Given the description of an element on the screen output the (x, y) to click on. 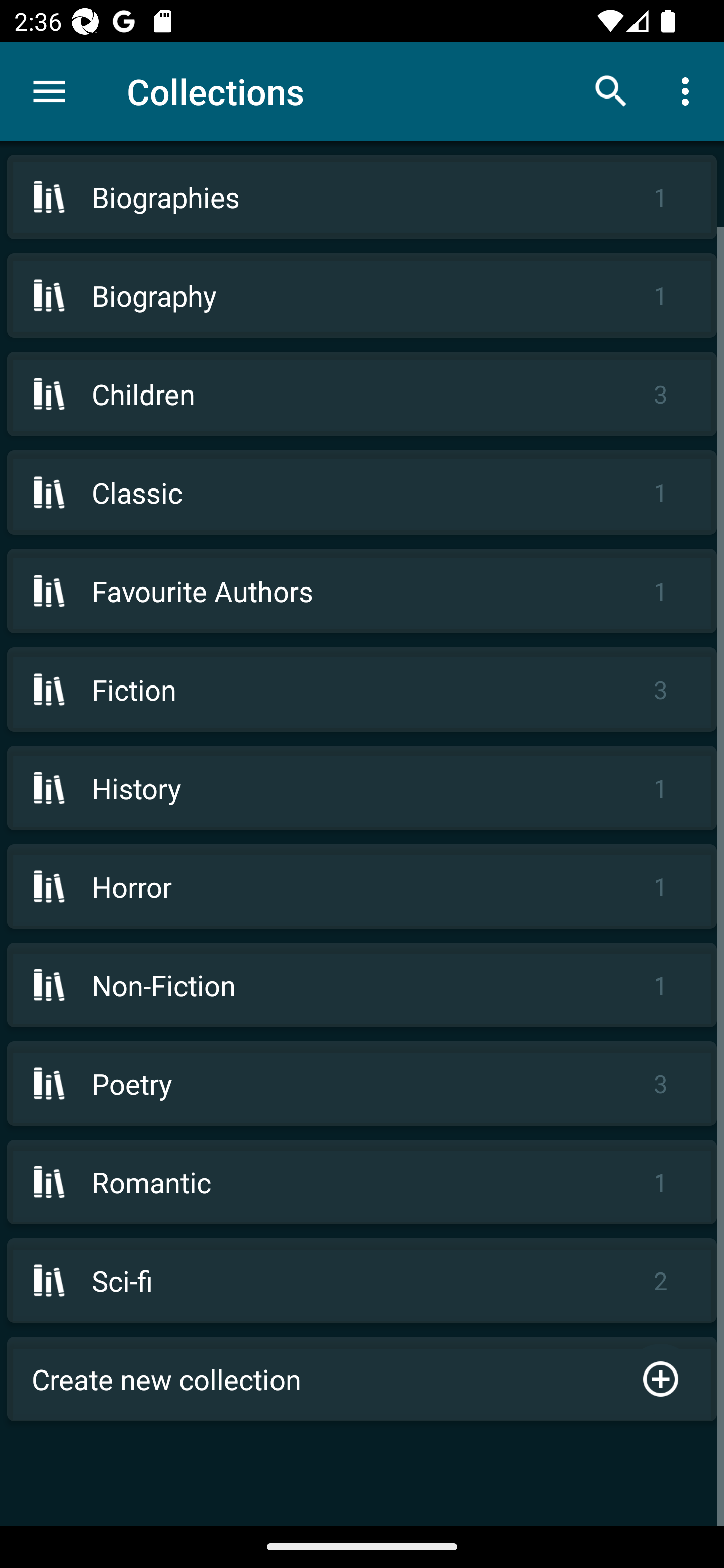
Menu (49, 91)
Search books & documents (611, 90)
More options (688, 90)
Biographies 1 (361, 197)
Biography 1 (361, 295)
Children 3 (361, 393)
Classic 1 (361, 492)
Favourite Authors 1 (361, 590)
Fiction 3 (361, 689)
History 1 (361, 787)
Horror 1 (361, 885)
Non-Fiction 1 (361, 984)
Poetry 3 (361, 1083)
Romantic 1 (361, 1181)
Sci-fi 2 (361, 1280)
Create new collection (361, 1378)
